Given the description of an element on the screen output the (x, y) to click on. 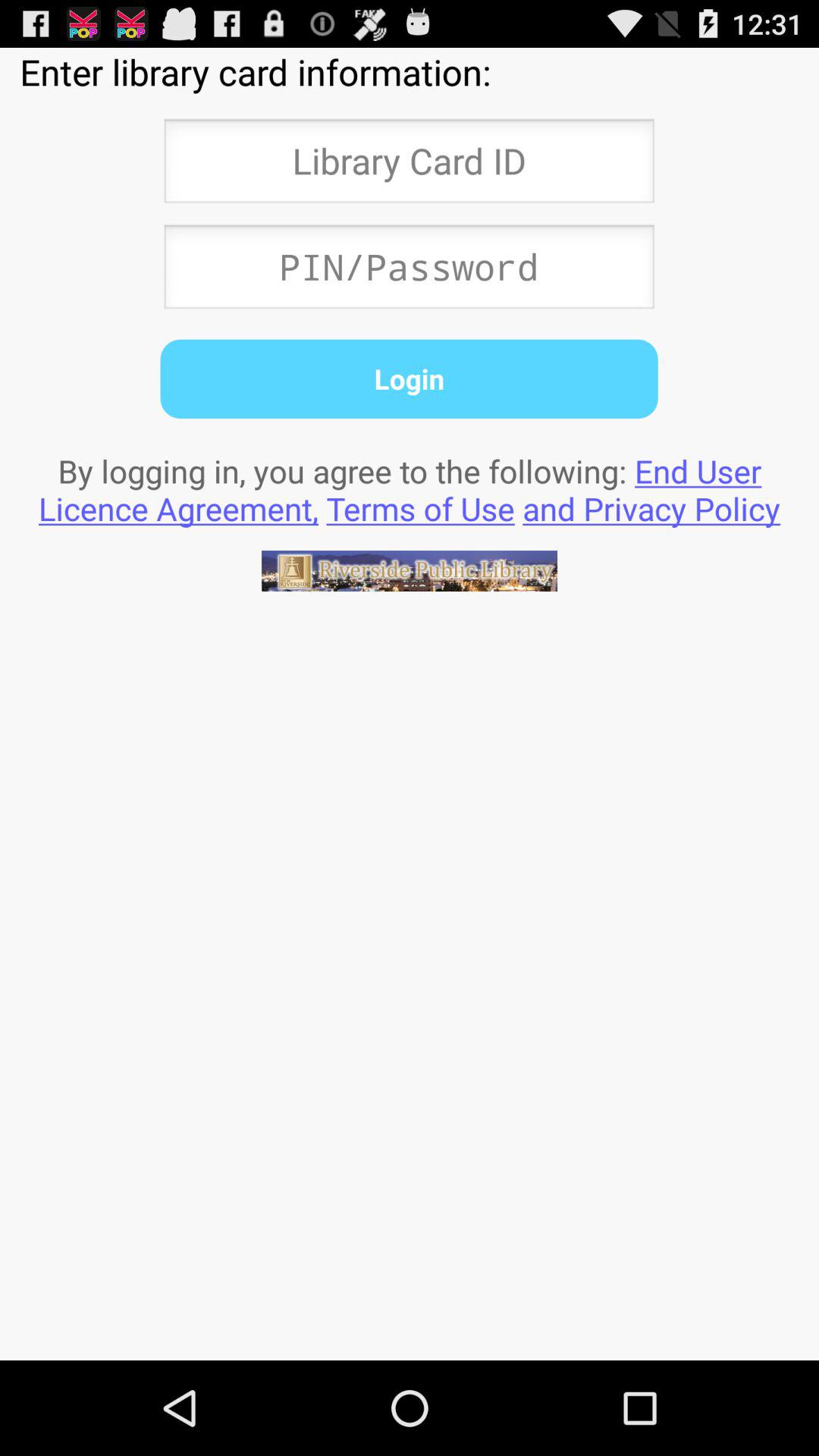
orange box flashing on card id (409, 165)
